Given the description of an element on the screen output the (x, y) to click on. 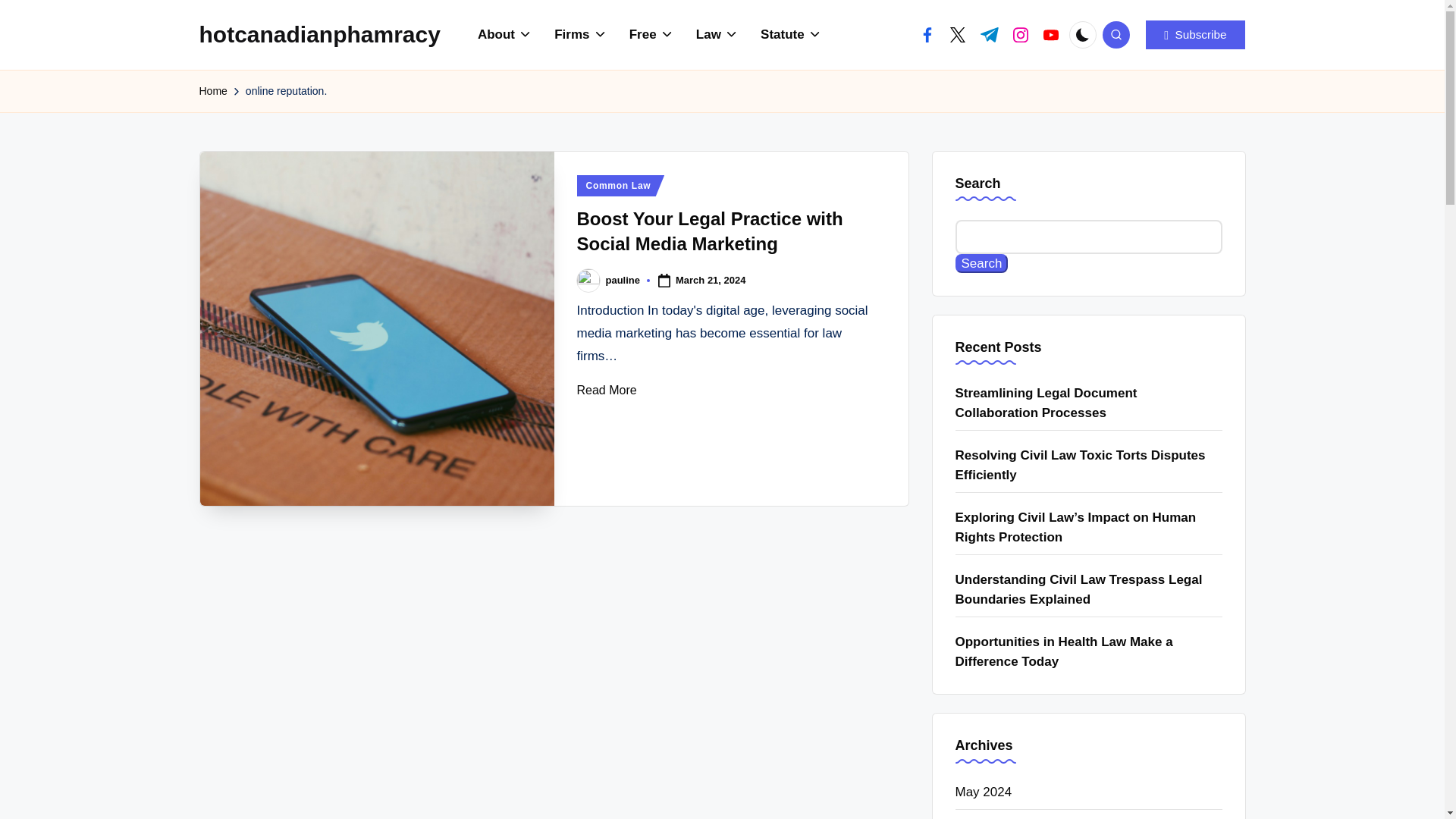
Boost Your Legal Practice with Social Media Marketing (377, 328)
Boost Your Legal Practice with Social Media Marketing (709, 231)
About (505, 34)
hotcanadianphamracy (318, 34)
View all posts by pauline (622, 279)
